Given the description of an element on the screen output the (x, y) to click on. 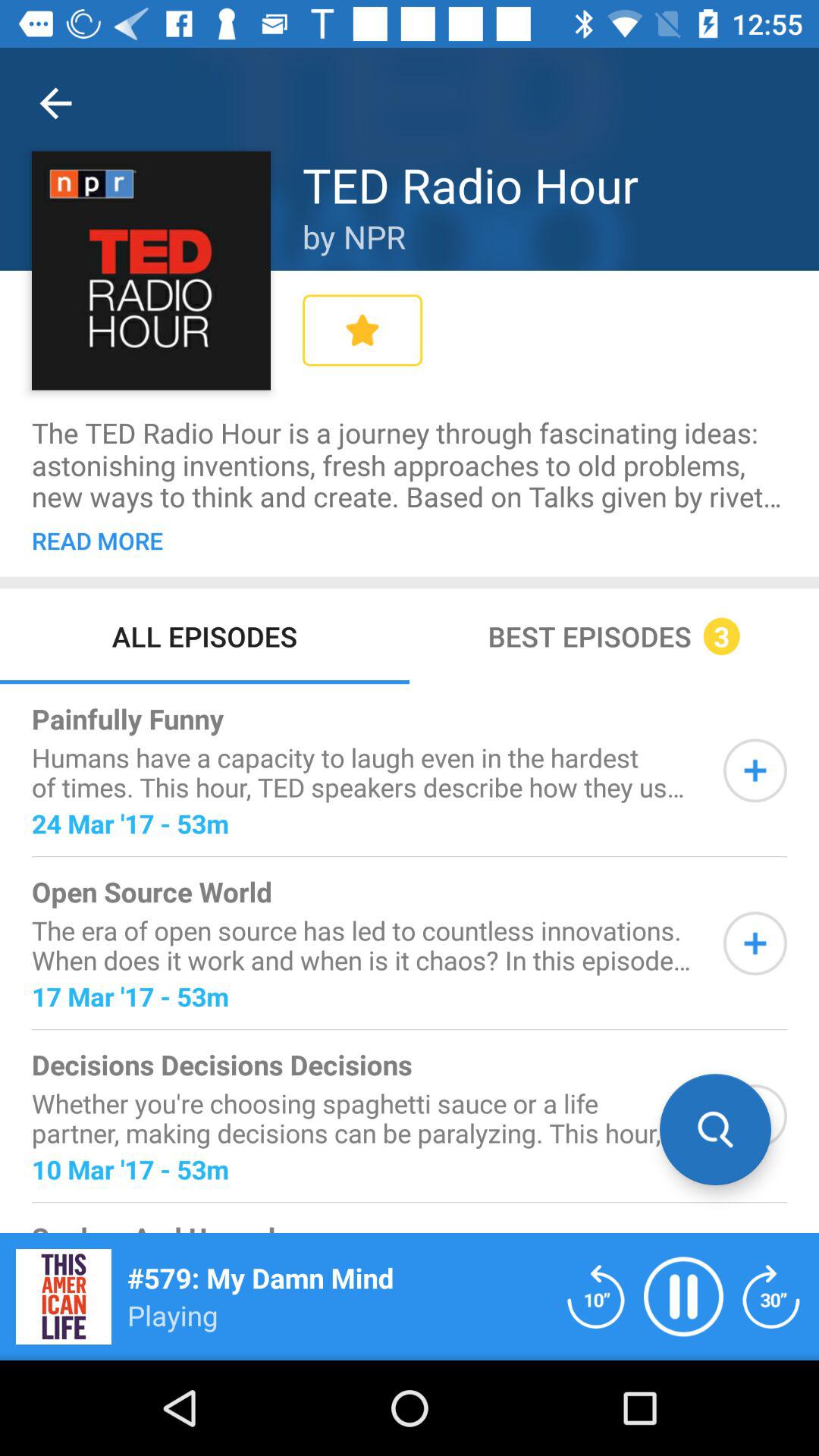
add symbol (755, 770)
